Given the description of an element on the screen output the (x, y) to click on. 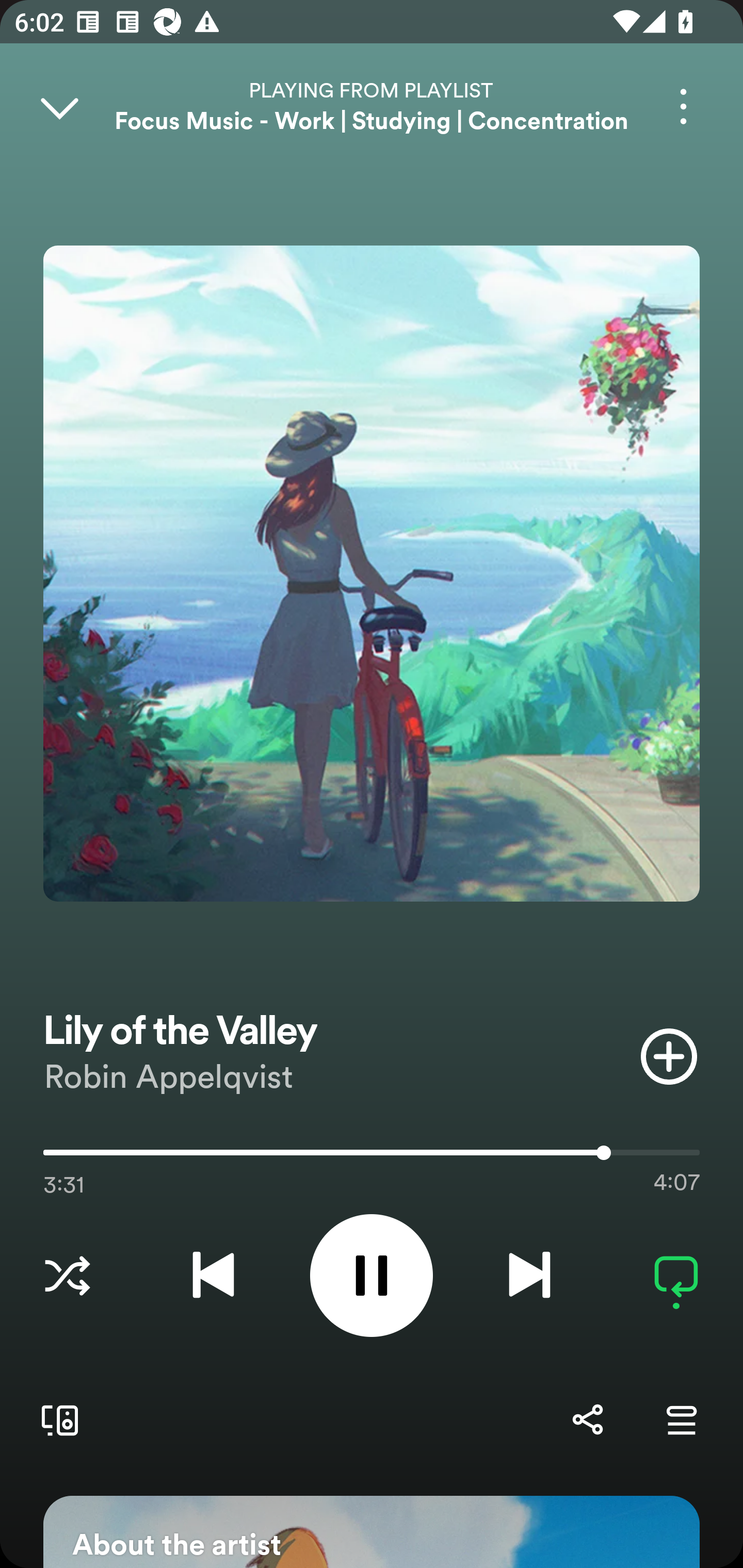
Close (59, 106)
More options for song Lily of the Valley (683, 106)
Add item (669, 1056)
3:31 4:07 211434.0 Use volume keys to adjust (371, 1157)
Pause (371, 1275)
Previous (212, 1275)
Next (529, 1275)
Choose a Listening Mode (66, 1275)
Repeat (676, 1275)
Share (587, 1419)
Go to Queue (681, 1419)
Connect to a device. Opens the devices menu (55, 1419)
About the artist (371, 1531)
